Given the description of an element on the screen output the (x, y) to click on. 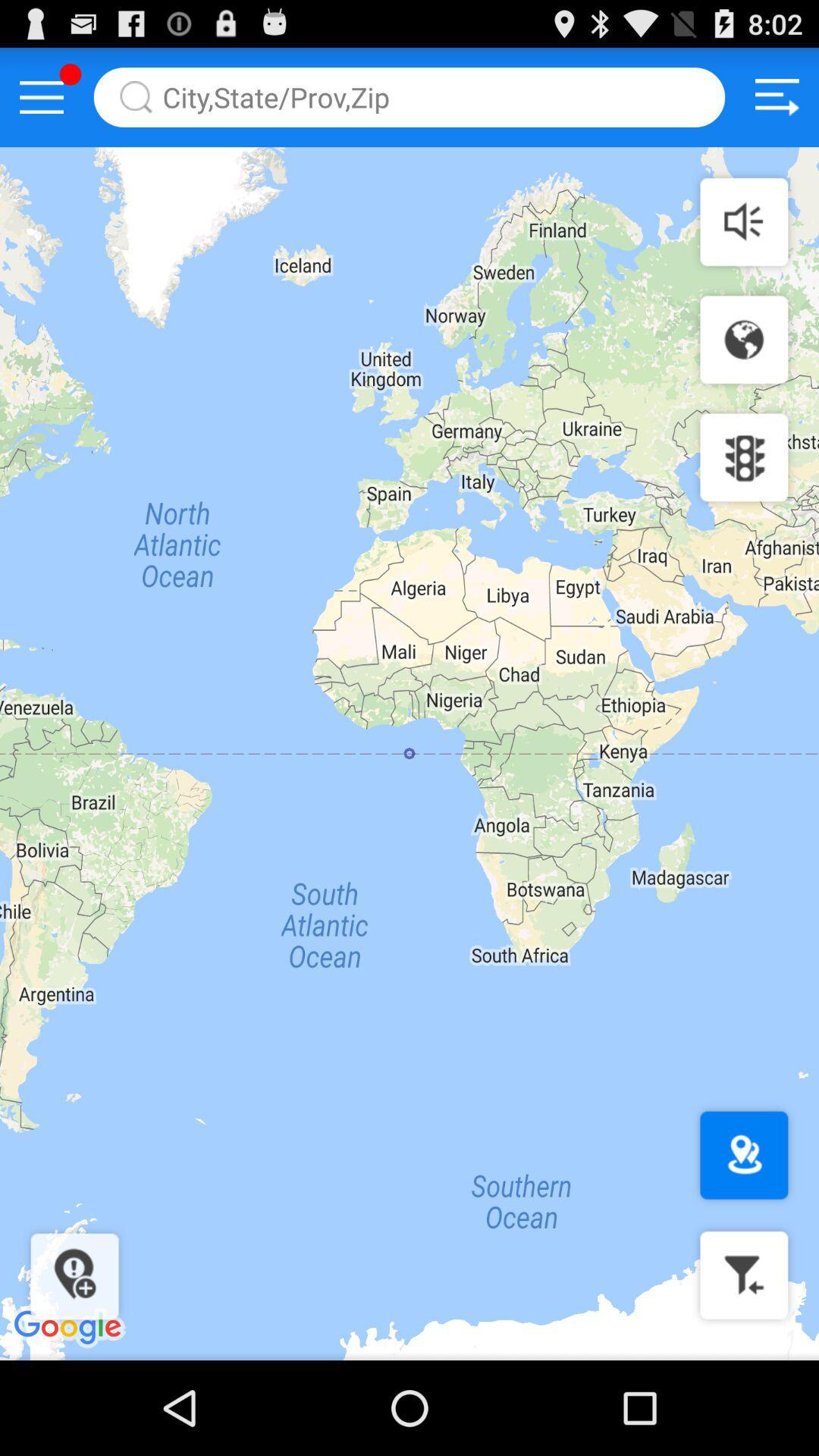
enter address (409, 97)
